Given the description of an element on the screen output the (x, y) to click on. 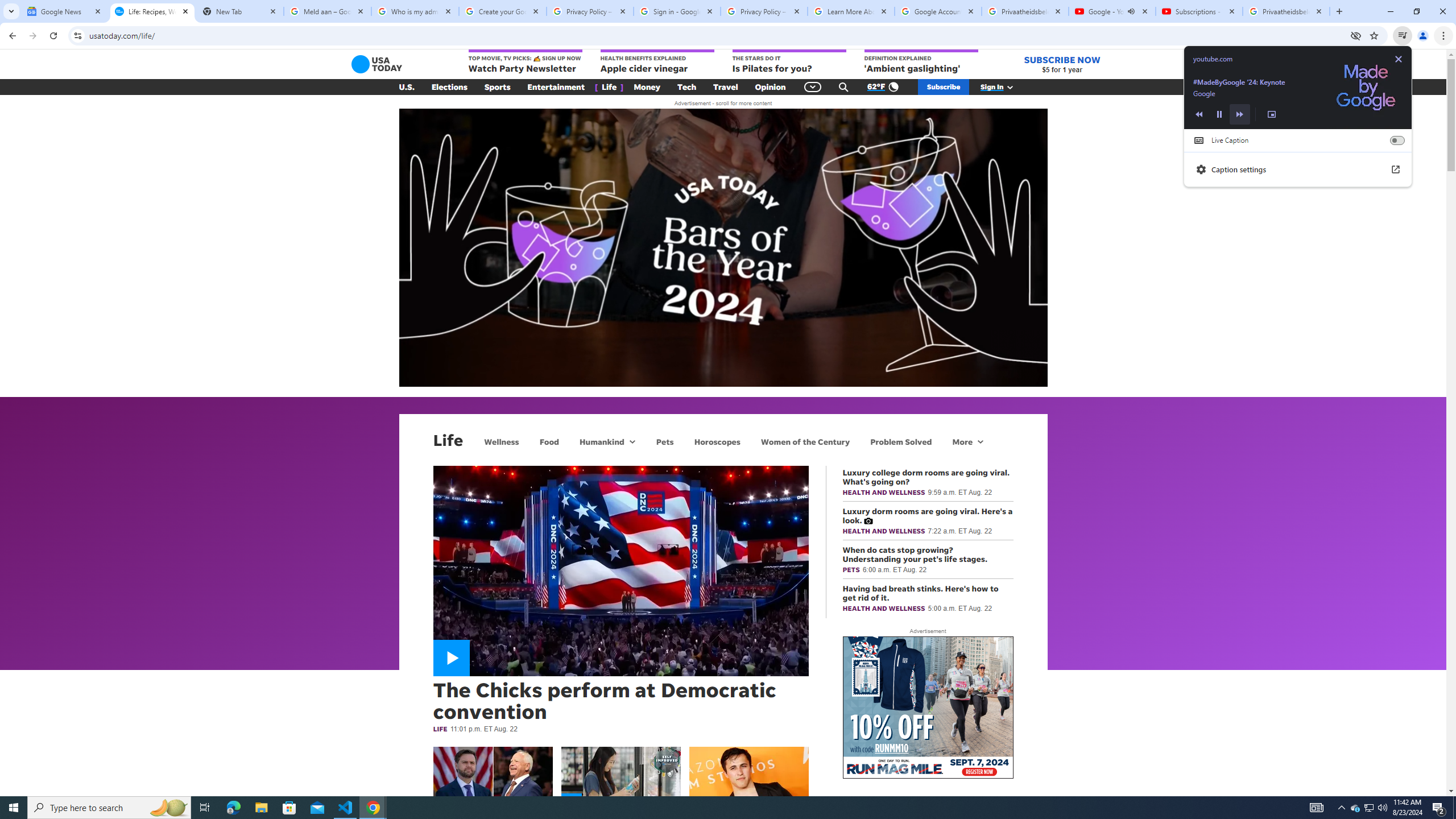
File Explorer (261, 807)
Live Caption (1397, 140)
Running applications (717, 807)
Opinion (770, 87)
Seek Forward (1240, 114)
Task View (204, 807)
